Given the description of an element on the screen output the (x, y) to click on. 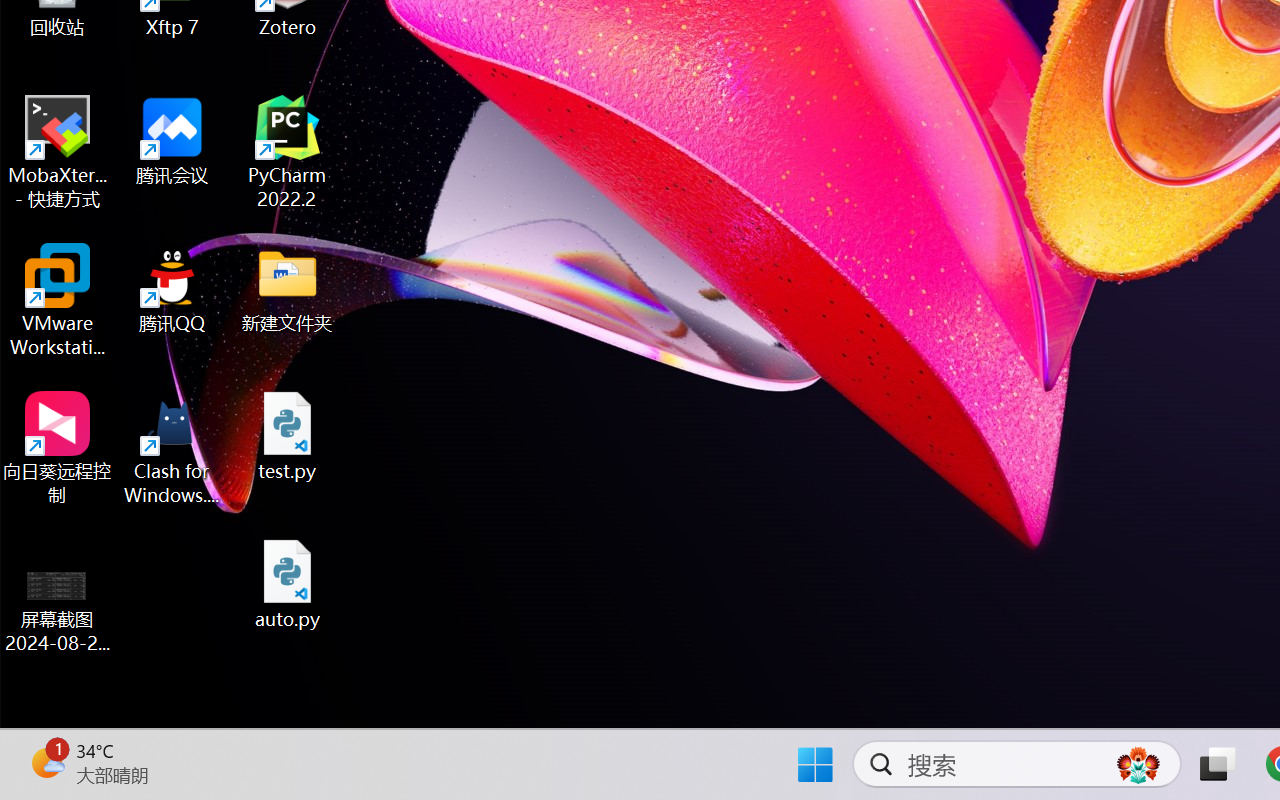
test.py (287, 436)
VMware Workstation Pro (57, 300)
PyCharm 2022.2 (287, 152)
auto.py (287, 584)
